Given the description of an element on the screen output the (x, y) to click on. 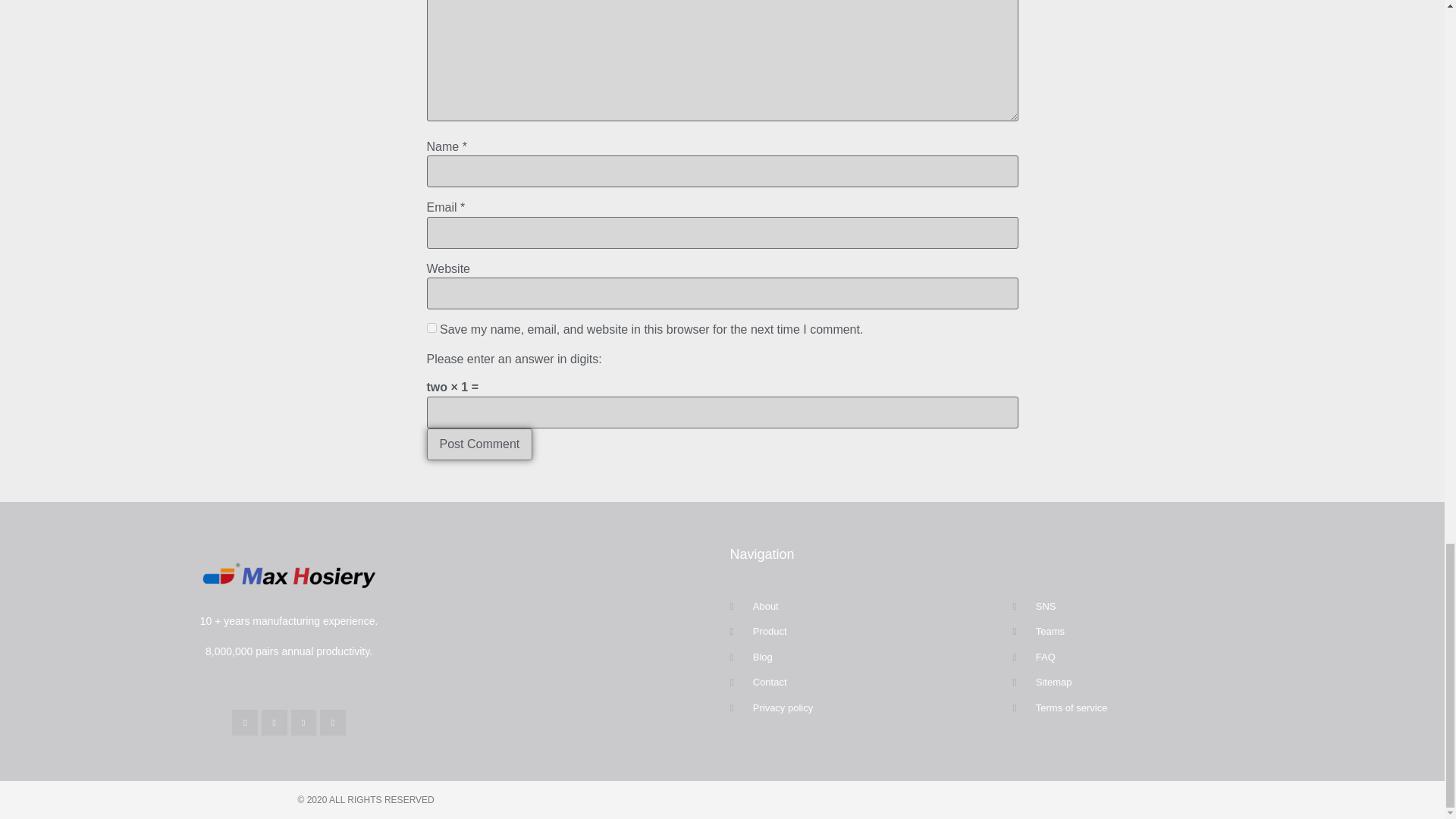
yes (430, 327)
Post Comment (479, 444)
